Given the description of an element on the screen output the (x, y) to click on. 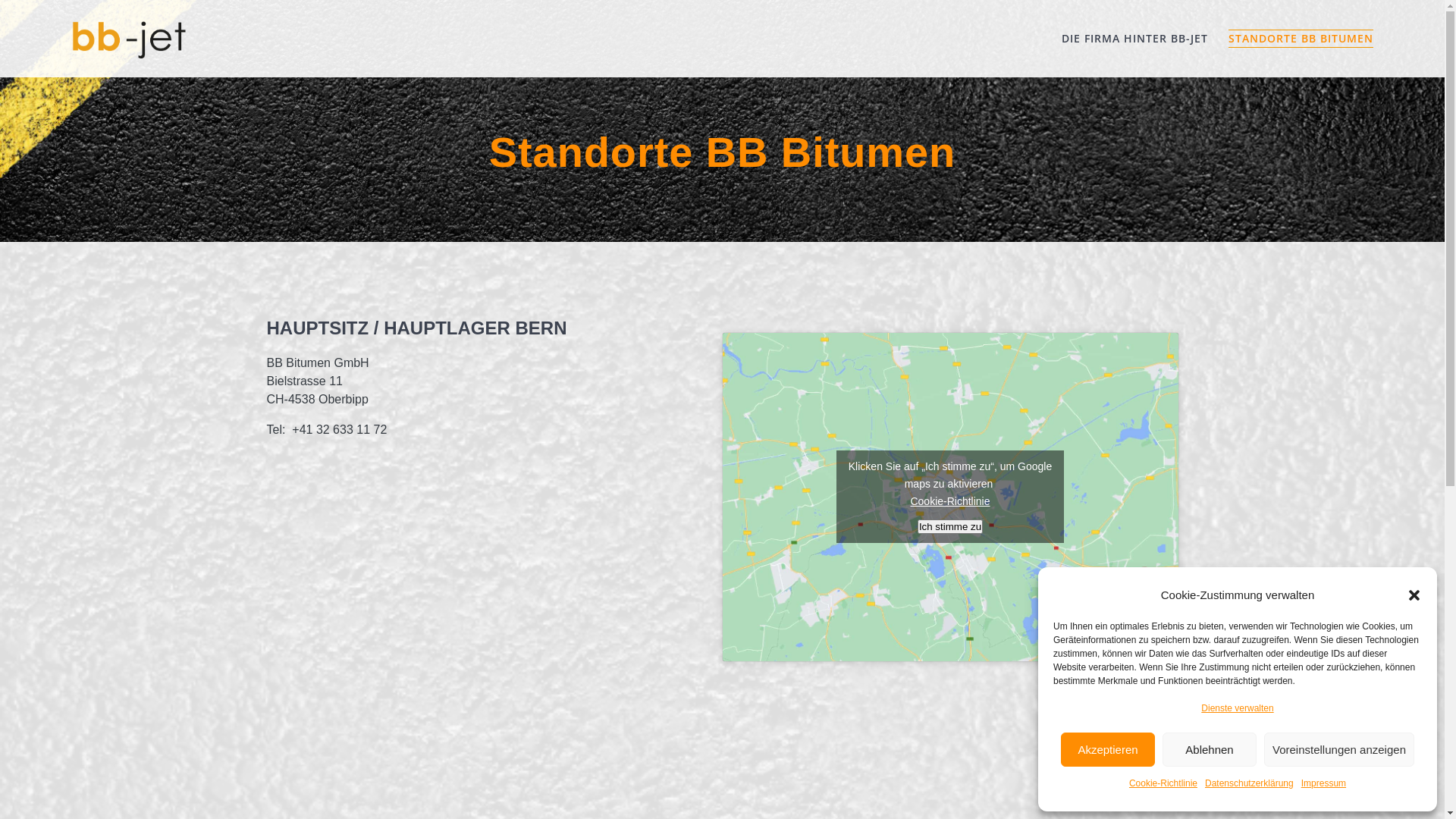
Ablehnen Element type: text (1209, 749)
Impressum Element type: text (1323, 783)
Voreinstellungen anzeigen Element type: text (1339, 749)
Akzeptieren Element type: text (1107, 749)
Ich stimme zu Element type: text (949, 526)
Dienste verwalten Element type: text (1237, 708)
STANDORTE BB BITUMEN Element type: text (1300, 38)
DIE FIRMA HINTER BB-JET Element type: text (1134, 38)
Cookie-Richtlinie Element type: text (1163, 783)
Cookie-Richtlinie Element type: text (949, 501)
